Given the description of an element on the screen output the (x, y) to click on. 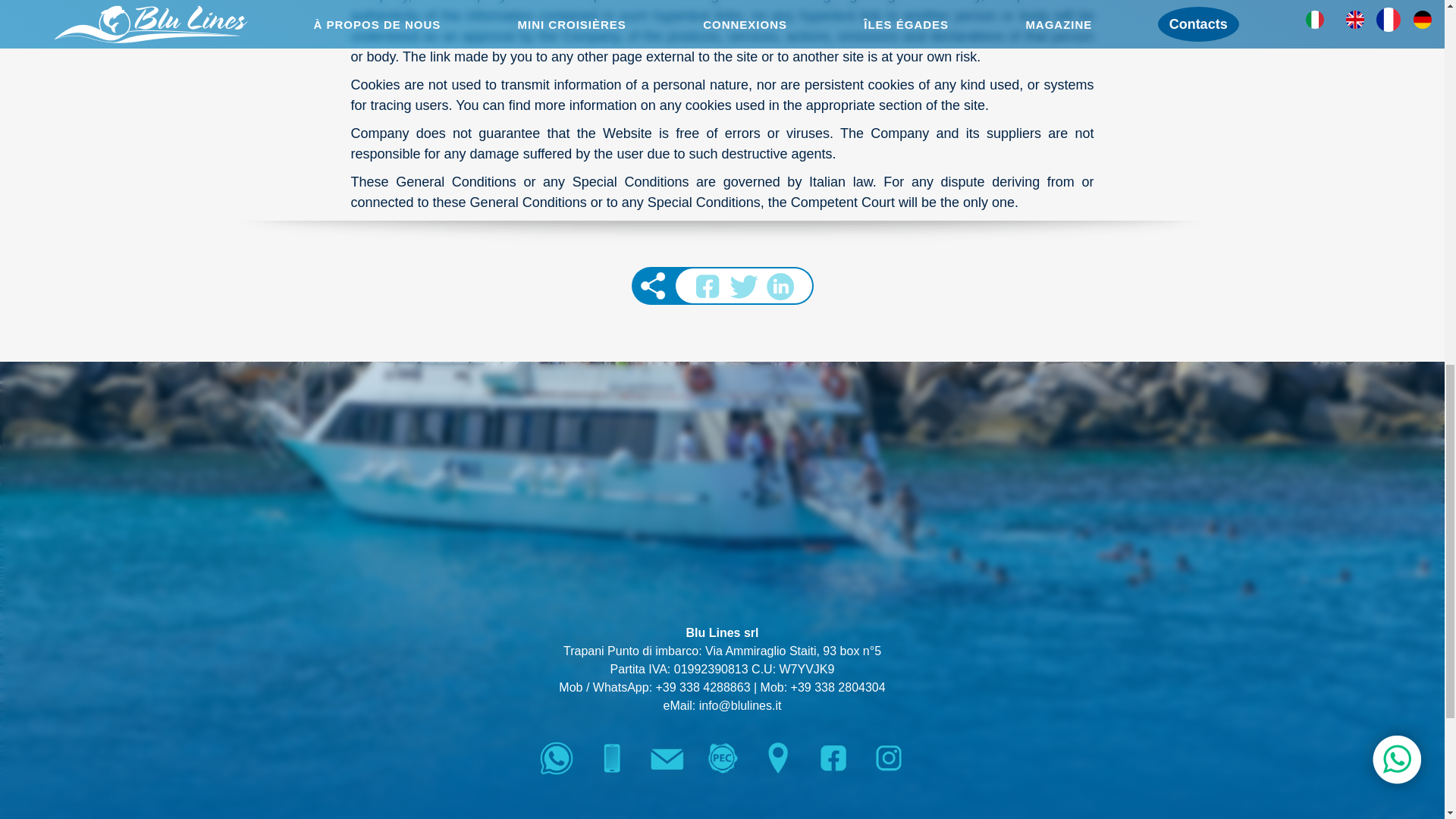
Suis nous sur instagram (888, 758)
Suivez comme sur Facebook (831, 758)
naviga verso (777, 758)
